Given the description of an element on the screen output the (x, y) to click on. 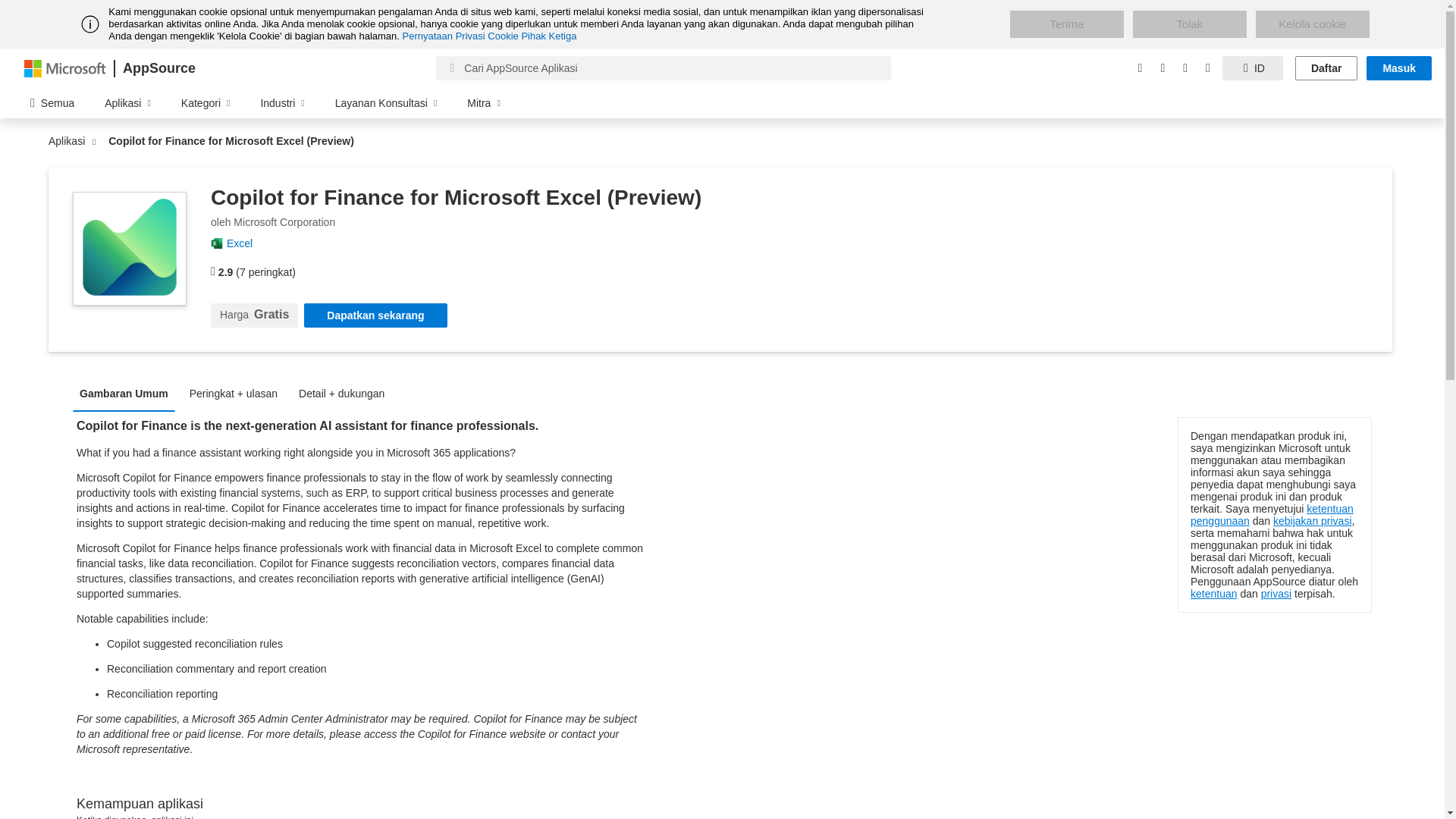
Excel (245, 243)
Excel (245, 243)
Aplikasi (70, 141)
Cookie Pihak Ketiga (531, 35)
Masuk (1399, 68)
Terima (1067, 23)
Daftar (1325, 68)
AppSource (158, 67)
Dapatkan sekarang (375, 315)
Microsoft (65, 67)
